Given the description of an element on the screen output the (x, y) to click on. 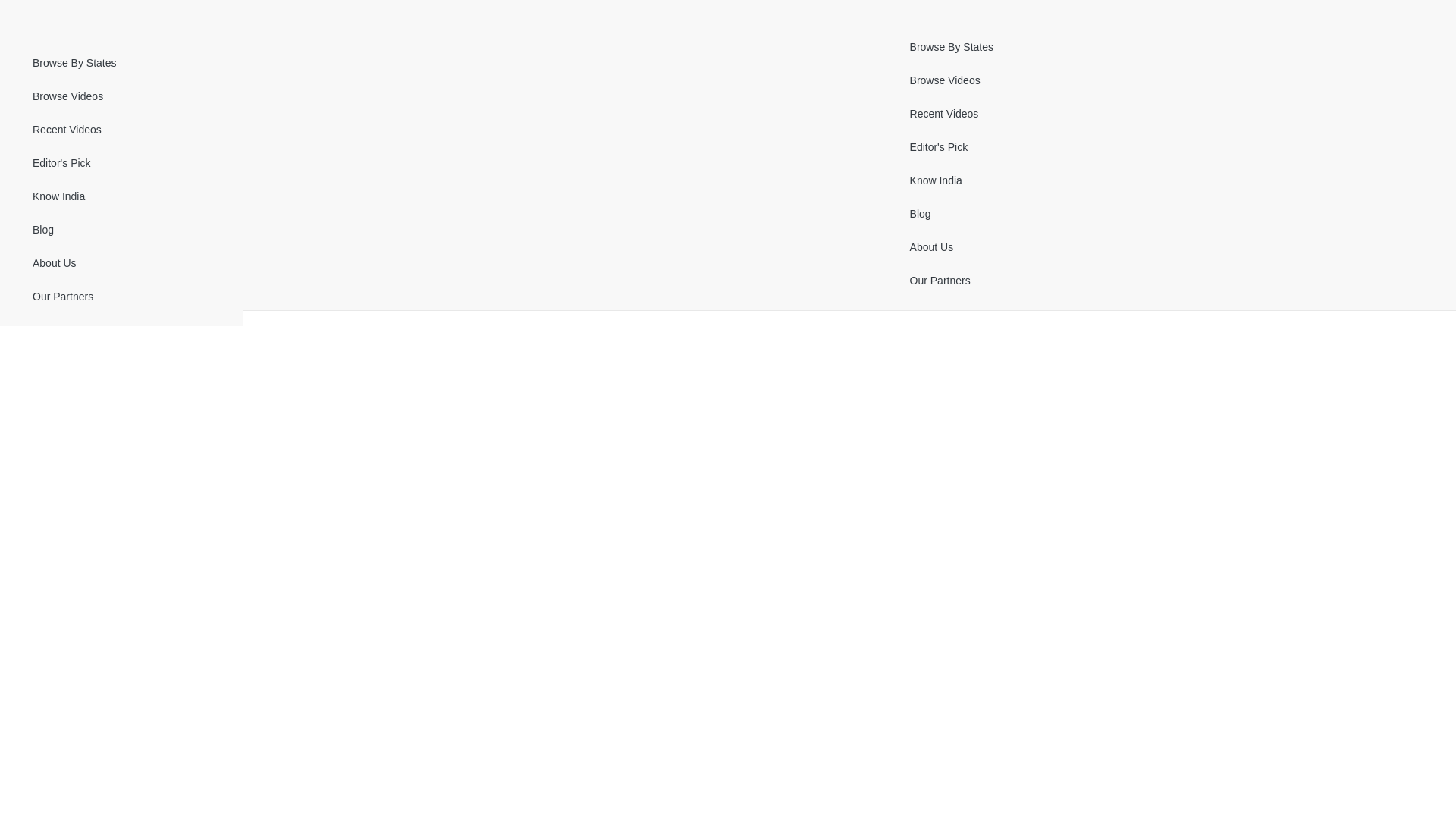
Blog (121, 229)
Recent Videos (121, 130)
Browse By States (121, 62)
Editor's Pick (121, 163)
About Us (121, 263)
Browse Videos (121, 96)
Know India (121, 196)
